Given the description of an element on the screen output the (x, y) to click on. 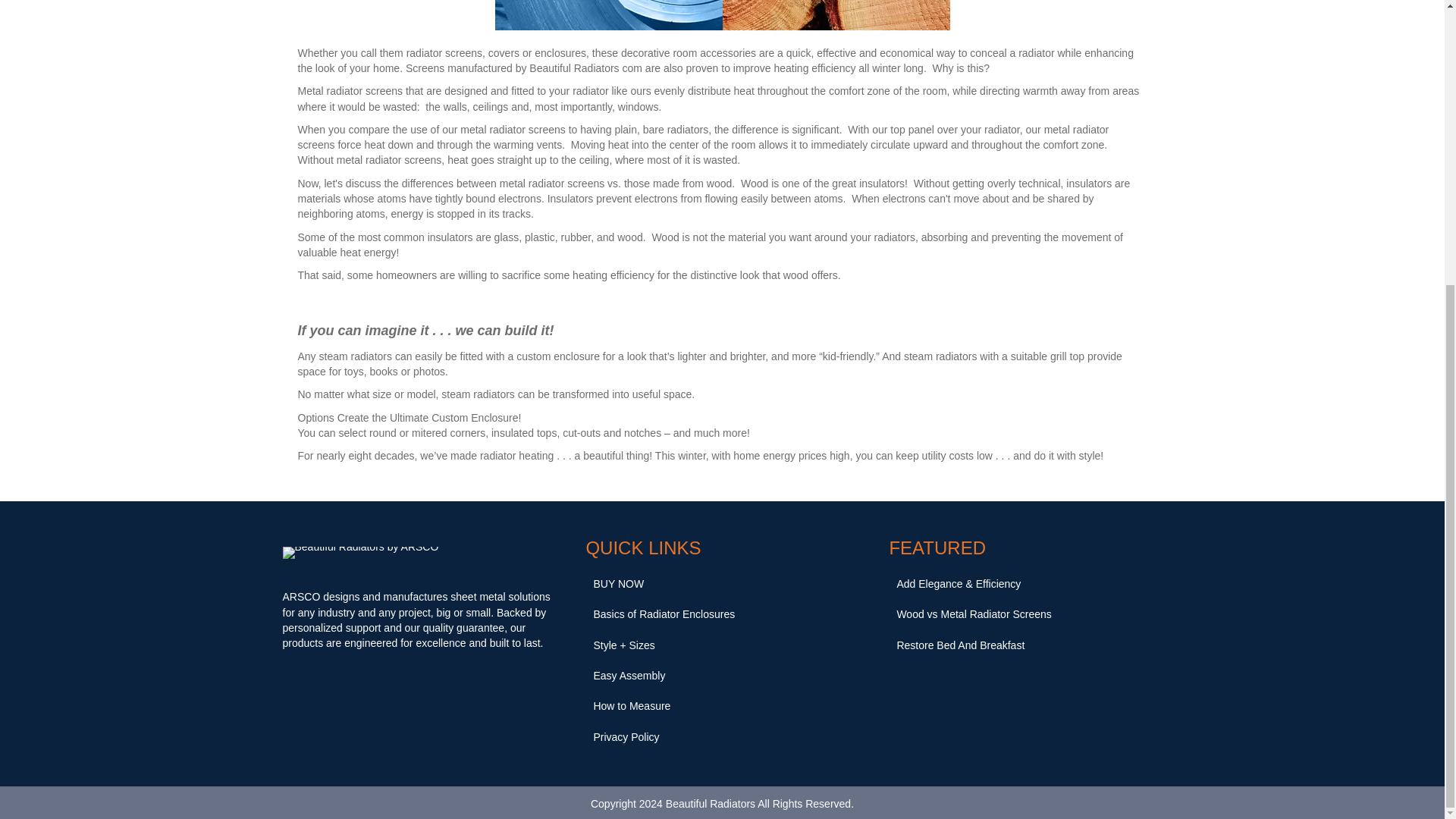
BUY NOW (722, 583)
Privacy Policy (722, 736)
Basics of Radiator Enclosures (722, 613)
Easy Assembly (722, 675)
Print (608, 15)
Sawn ends of timber logs, cut wood, with wood grain pattern. (835, 15)
Beautiful Radiators by ARSCO (360, 552)
Wood vs Metal Radiator Screens (1024, 613)
Restore Bed And Breakfast (1024, 644)
How to Measure (722, 706)
